Given the description of an element on the screen output the (x, y) to click on. 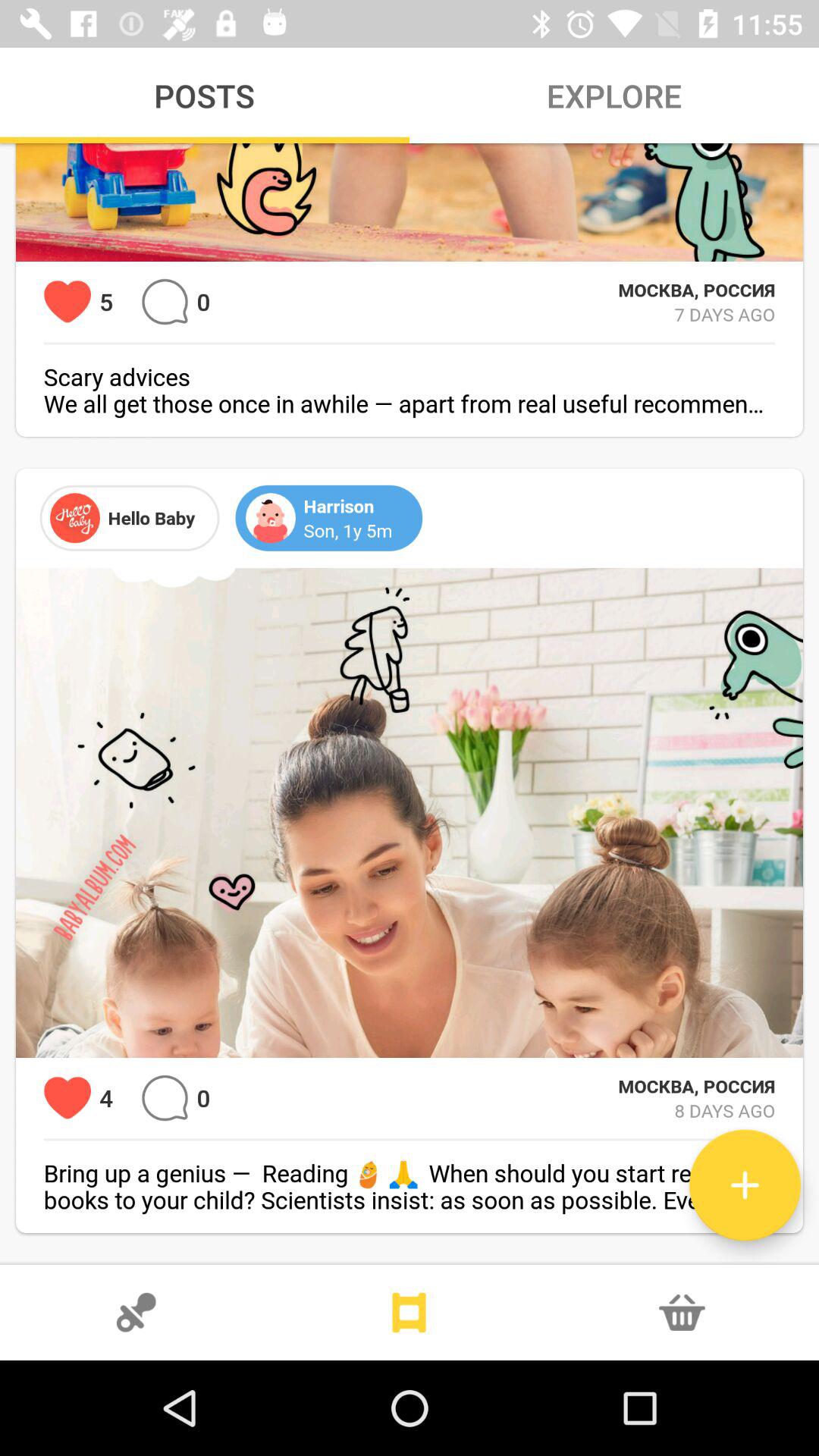
extra upload button (744, 1185)
